Given the description of an element on the screen output the (x, y) to click on. 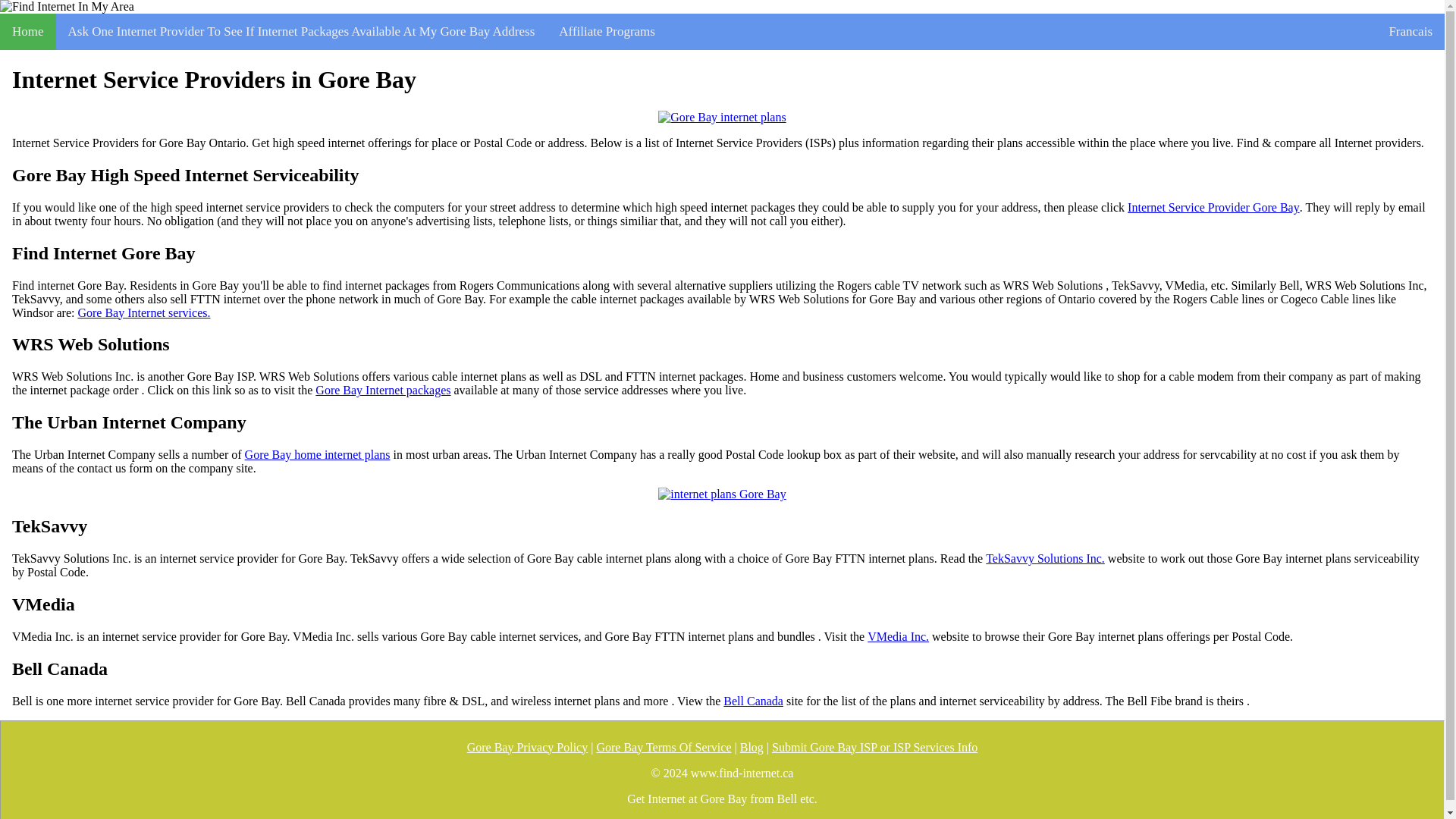
Gore Bay home internet plans (317, 454)
Gore Bay Internet packages (382, 390)
Blog (750, 747)
Internet Service Provider Gore Bay (1213, 207)
Gore Bay Internet services. (143, 313)
Gore Bay Terms Of Service (662, 747)
Home (28, 31)
VMedia Inc. (897, 636)
Submit Gore Bay ISP or ISP Services Info (873, 747)
Gore Bay Privacy Policy (527, 747)
TekSavvy Solutions Inc. (1045, 558)
Affiliate Programs (606, 31)
Bell Canada (753, 701)
